Given the description of an element on the screen output the (x, y) to click on. 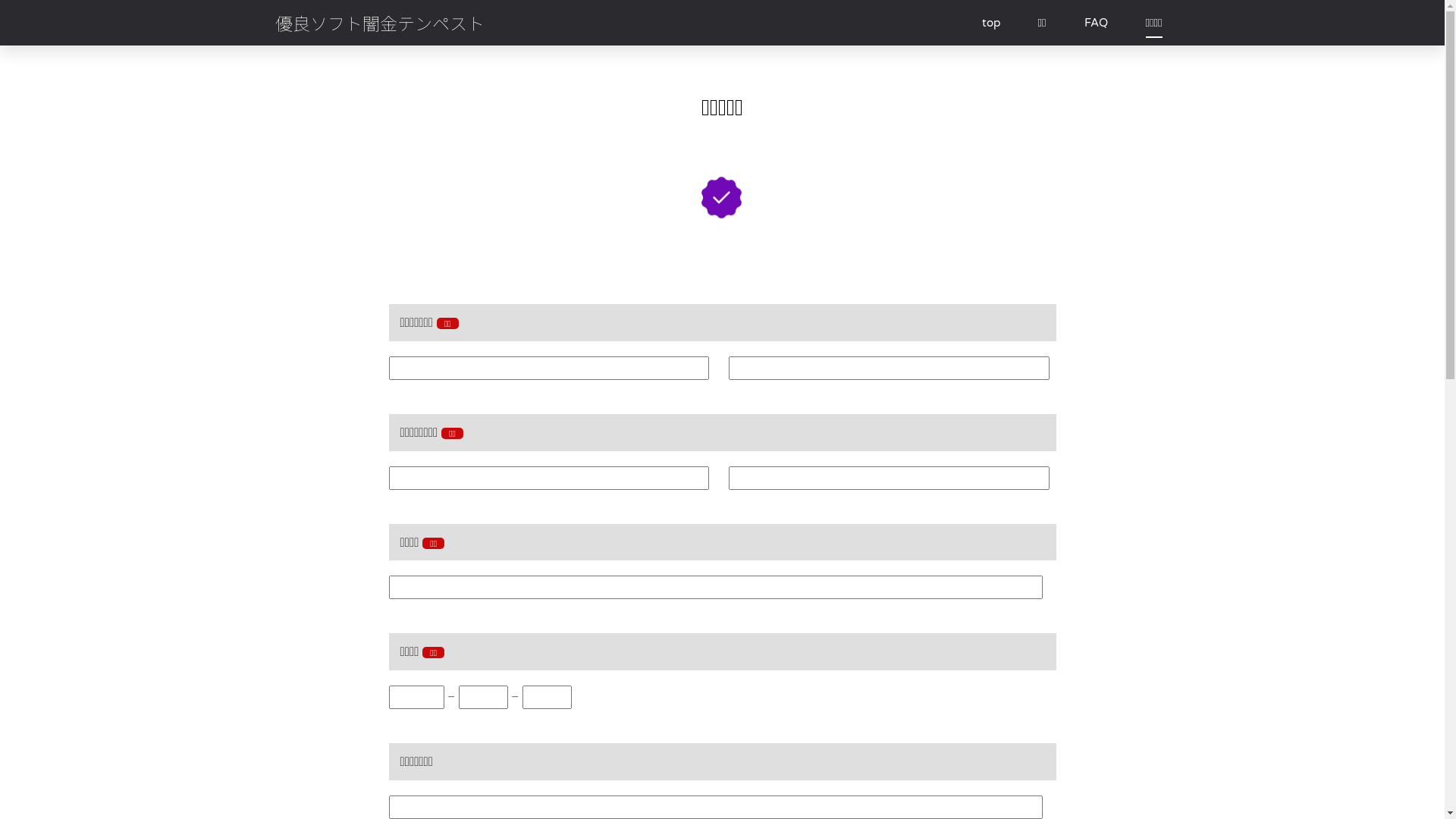
top Element type: text (991, 22)
FAQ Element type: text (1095, 22)
